Given the description of an element on the screen output the (x, y) to click on. 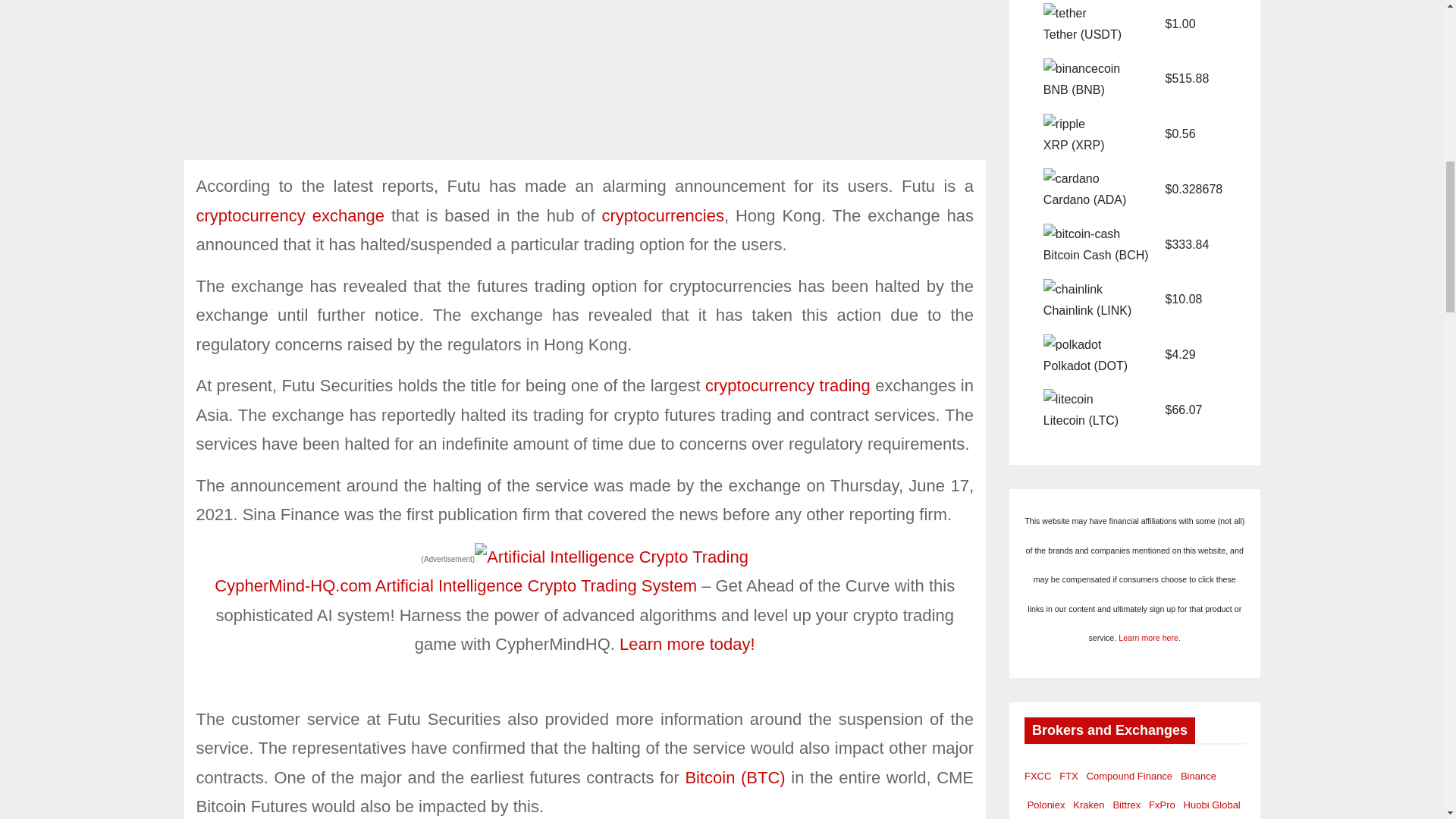
cryptocurrency exchange (289, 215)
cryptocurrencies (662, 215)
cryptocurrency trading (787, 384)
